Given the description of an element on the screen output the (x, y) to click on. 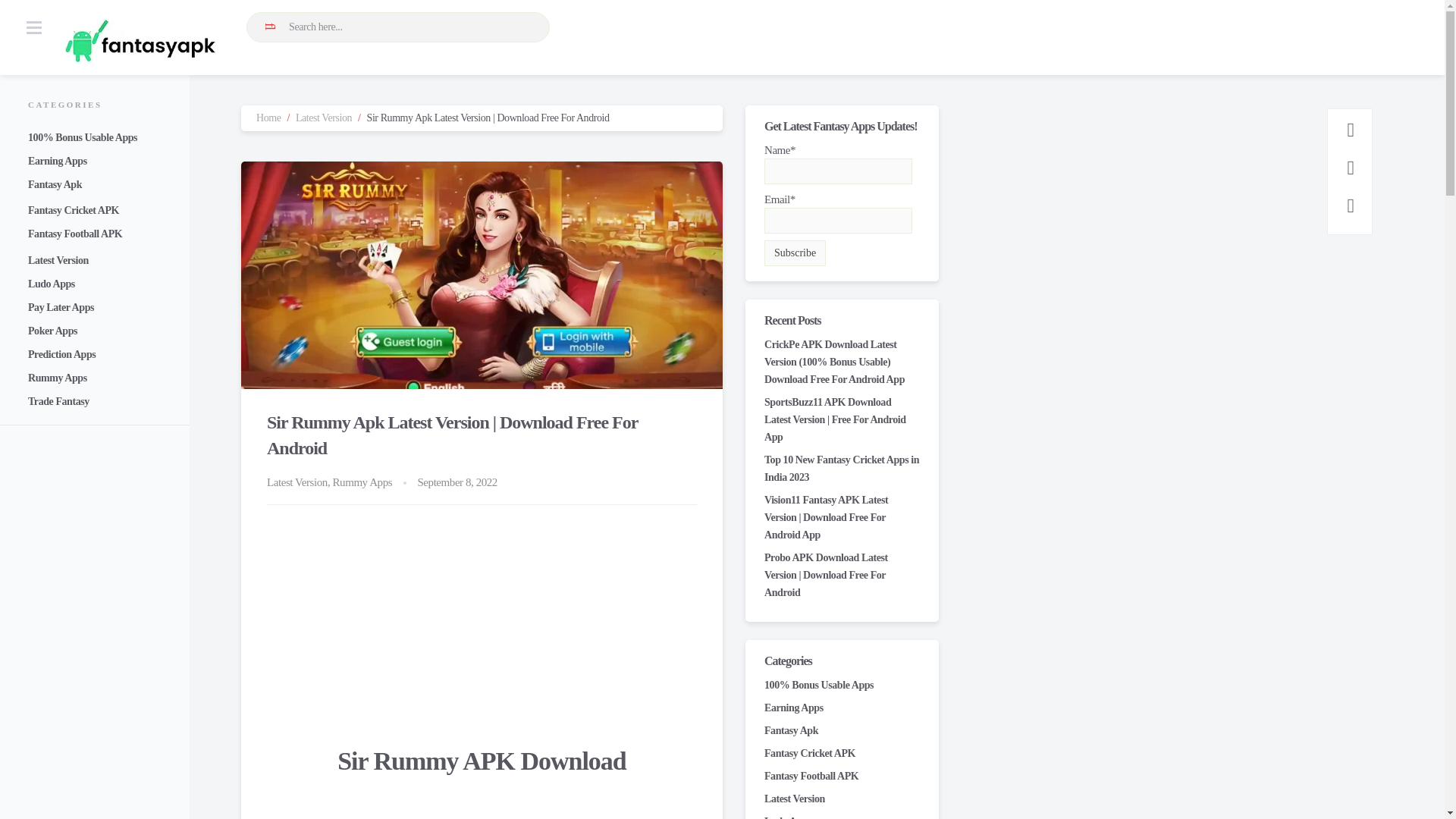
Pay Later Apps (60, 307)
Top 10 New Fantasy Cricket Apps in India 2023 (841, 468)
Earning Apps (794, 707)
Prediction Apps (61, 354)
Ludo Apps (51, 283)
Fantasy Football APK (74, 233)
Poker Apps (52, 330)
Subscribe (794, 253)
Latest Version (57, 260)
Fantasy Football APK (811, 776)
Home (268, 117)
Latest Version (794, 798)
Subscribe (794, 253)
Fantasy Apk (791, 730)
View all posts in Rummy Apps (363, 481)
